Given the description of an element on the screen output the (x, y) to click on. 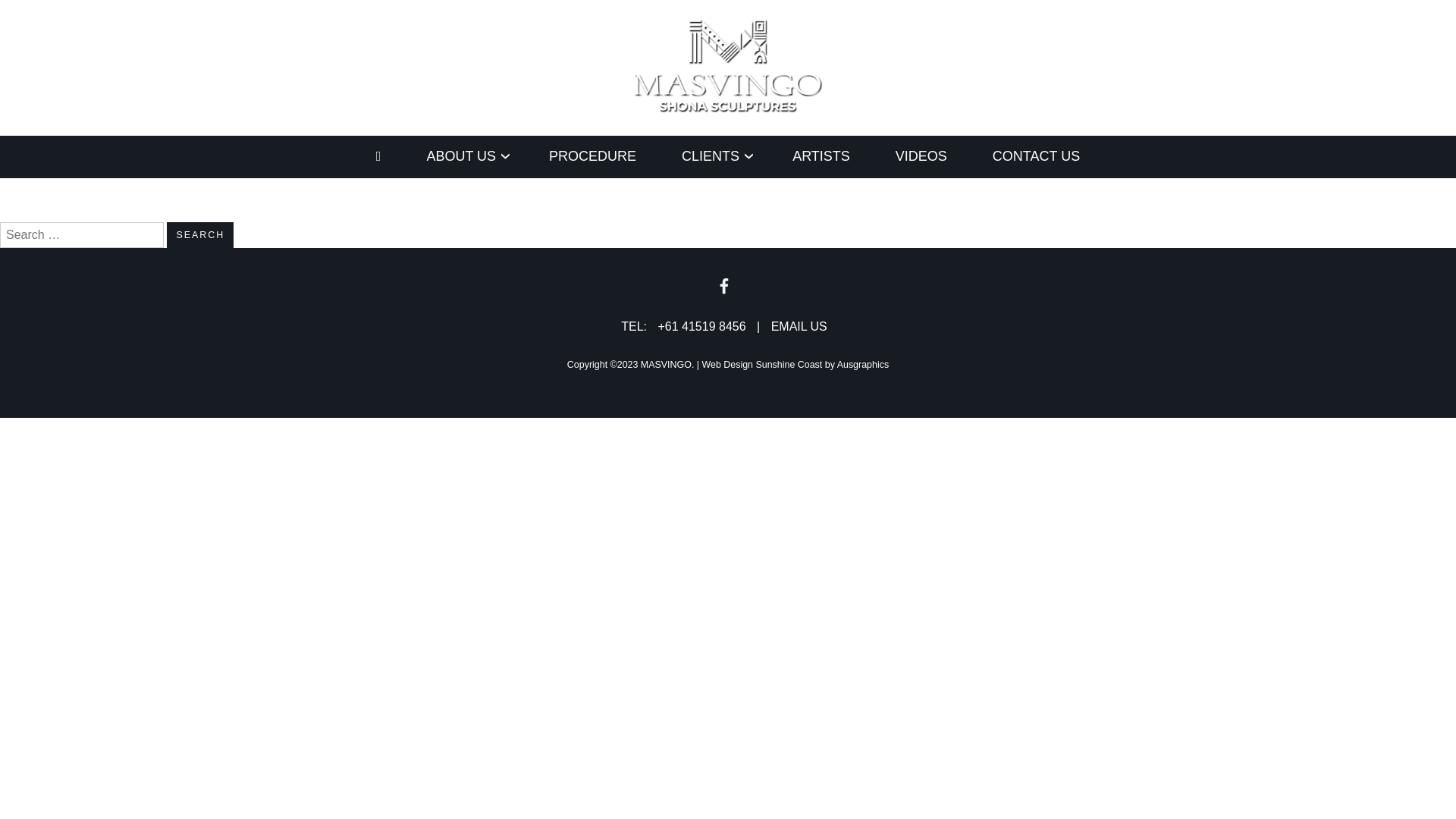
CONTACT US Element type: text (1035, 156)
Web Design Sunshine Coast Element type: text (762, 364)
EMAIL US Element type: text (799, 326)
Masvingo African Wholesale Zimbabwe Shona Stone Scultures Element type: text (413, 161)
ARTISTS Element type: text (820, 156)
TESTIMONIALS Element type: text (715, 195)
MASVINGO Element type: text (665, 364)
CHARITY Element type: text (442, 195)
+61 41519 8456 Element type: text (701, 326)
Ausgraphics Element type: text (862, 364)
VIDEOS Element type: text (920, 156)
CLIENTS Element type: text (713, 156)
Find us on Facebook Element type: hover (724, 286)
Search Element type: text (199, 234)
ABOUT US Element type: text (464, 156)
PROCEDURE Element type: text (592, 156)
